Given the description of an element on the screen output the (x, y) to click on. 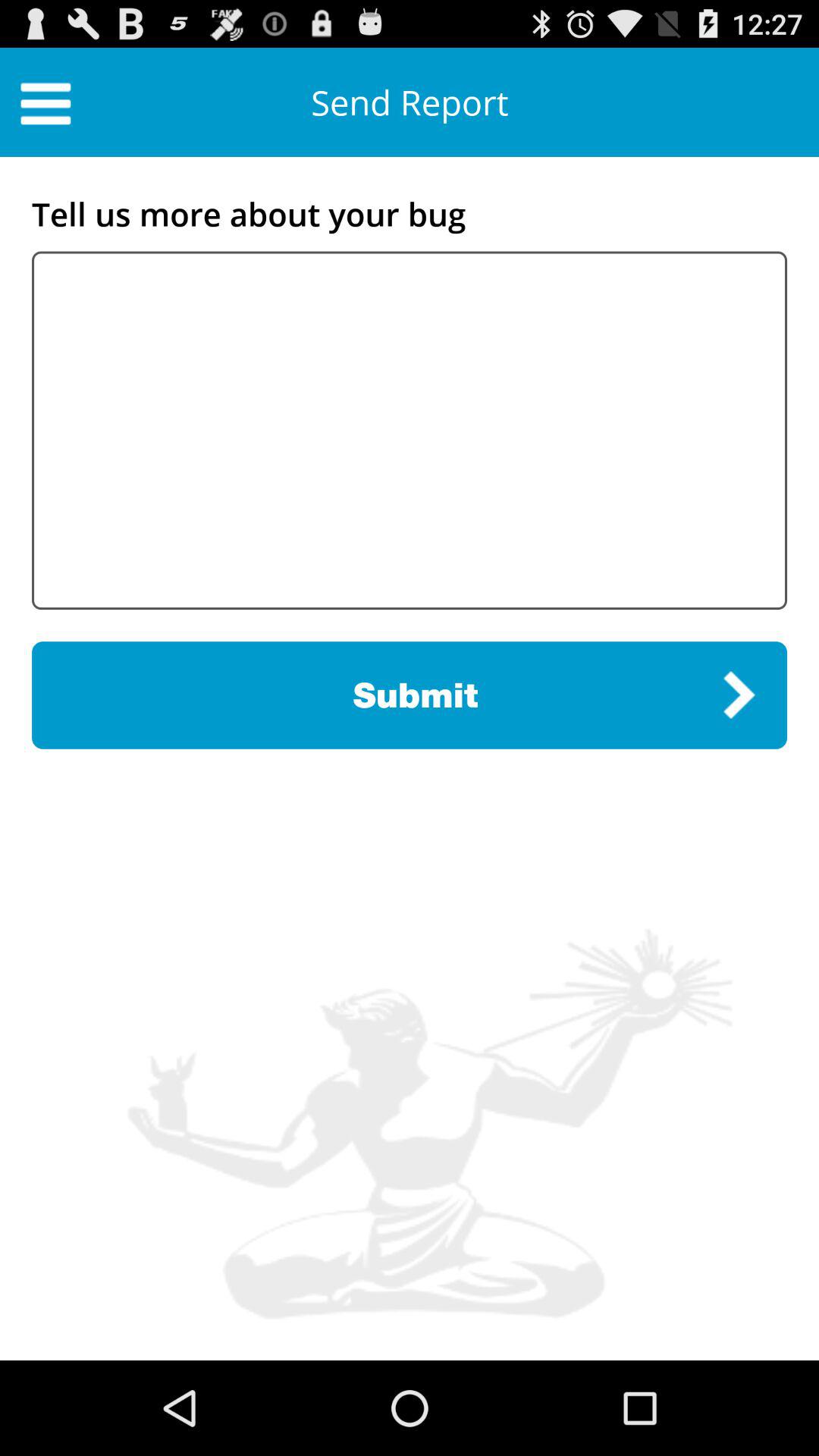
turn off item at the center (409, 695)
